Given the description of an element on the screen output the (x, y) to click on. 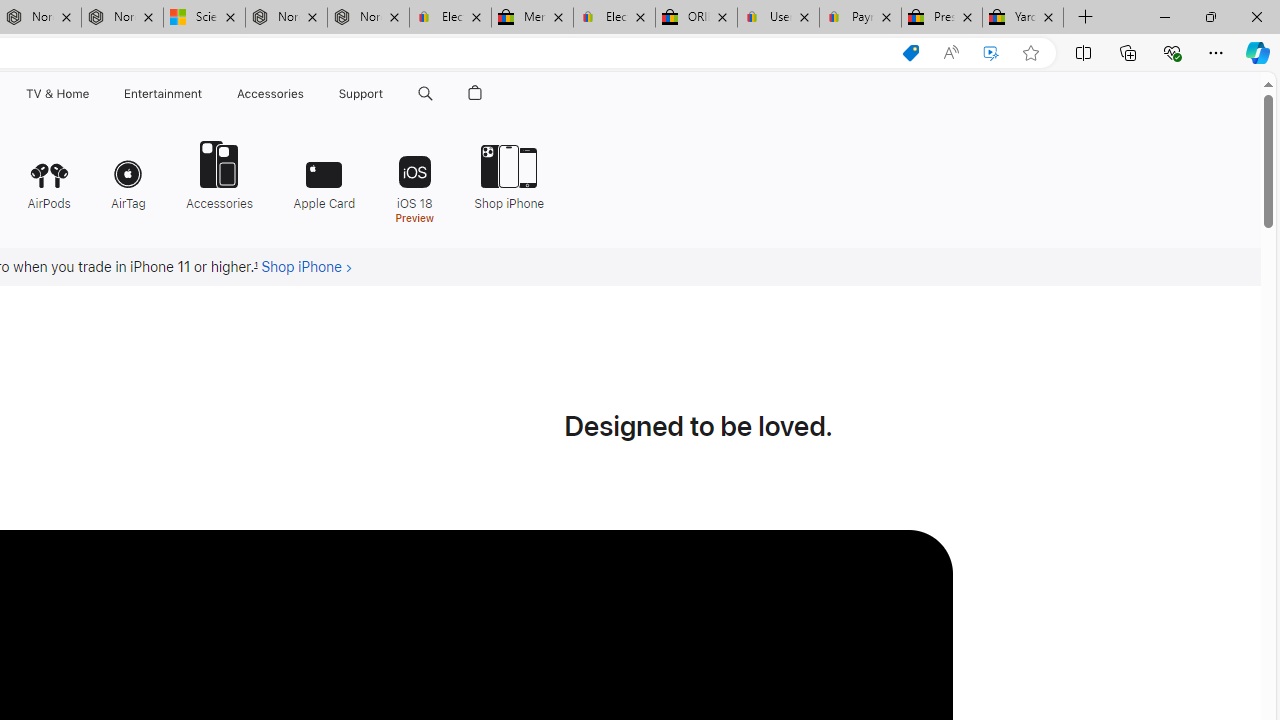
iOS 18Preview (414, 179)
Yard, Garden & Outdoor Living (1023, 17)
Payments Terms of Use | eBay.com (860, 17)
iOS 18 Preview (414, 179)
TV and Home (56, 93)
Shop iPhone (501, 173)
Class: globalnav-item globalnav-search shift-0-1 (425, 93)
